Given the description of an element on the screen output the (x, y) to click on. 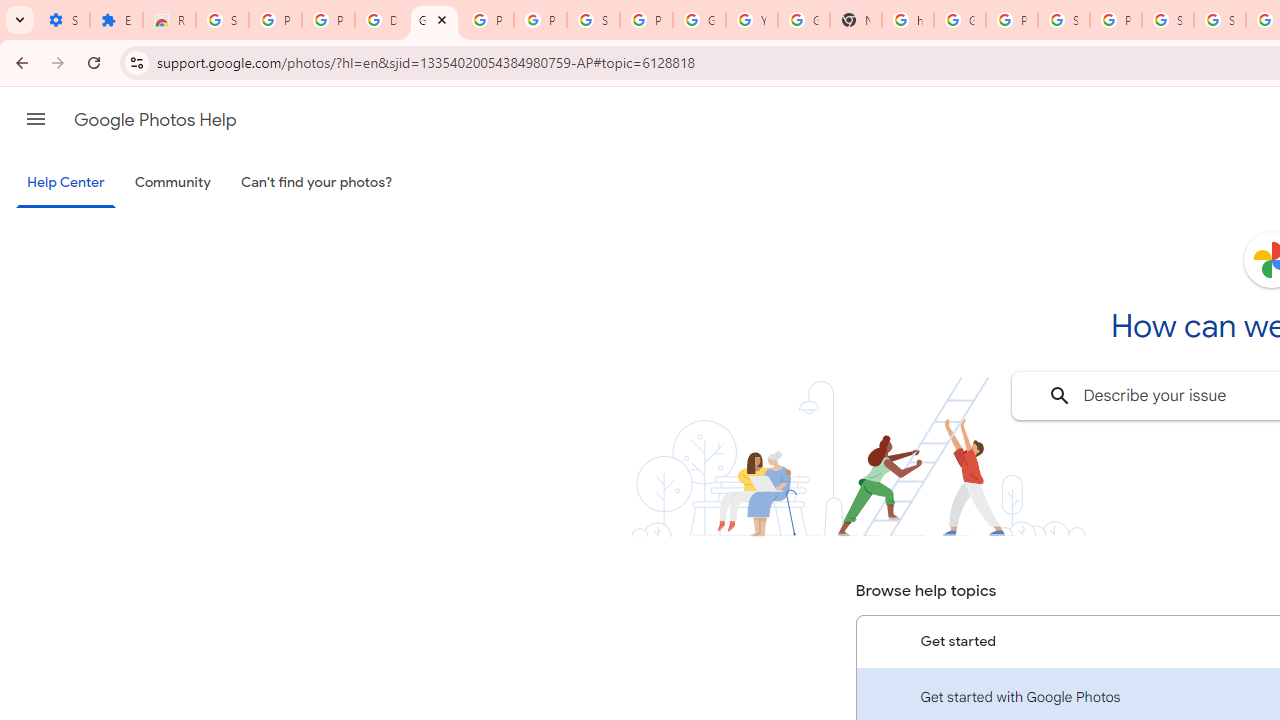
Sign in - Google Accounts (222, 20)
Google Photos Help (155, 119)
Sign in - Google Accounts (593, 20)
YouTube (751, 20)
Google Photos Help (434, 20)
Can't find your photos? (317, 183)
Google Account (699, 20)
